Given the description of an element on the screen output the (x, y) to click on. 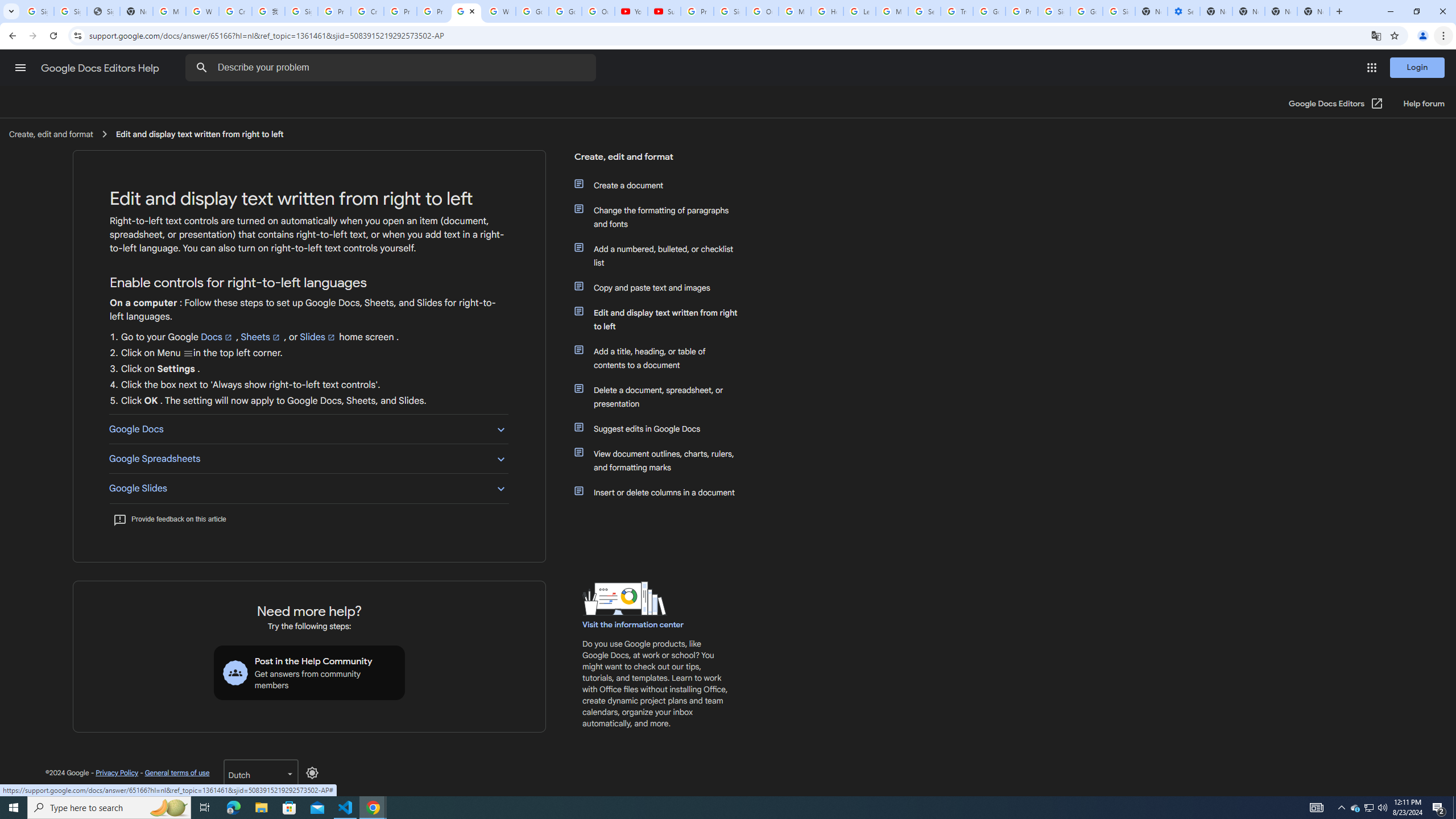
Create your Google Account (235, 11)
General terms of use (176, 772)
New Tab (1313, 11)
Insert or delete columns in a document (661, 492)
Delete a document, spreadsheet, or presentation (661, 396)
Sign In - USA TODAY (103, 11)
Trusted Information and Content - Google Safety Center (957, 11)
Slides (317, 337)
